Given the description of an element on the screen output the (x, y) to click on. 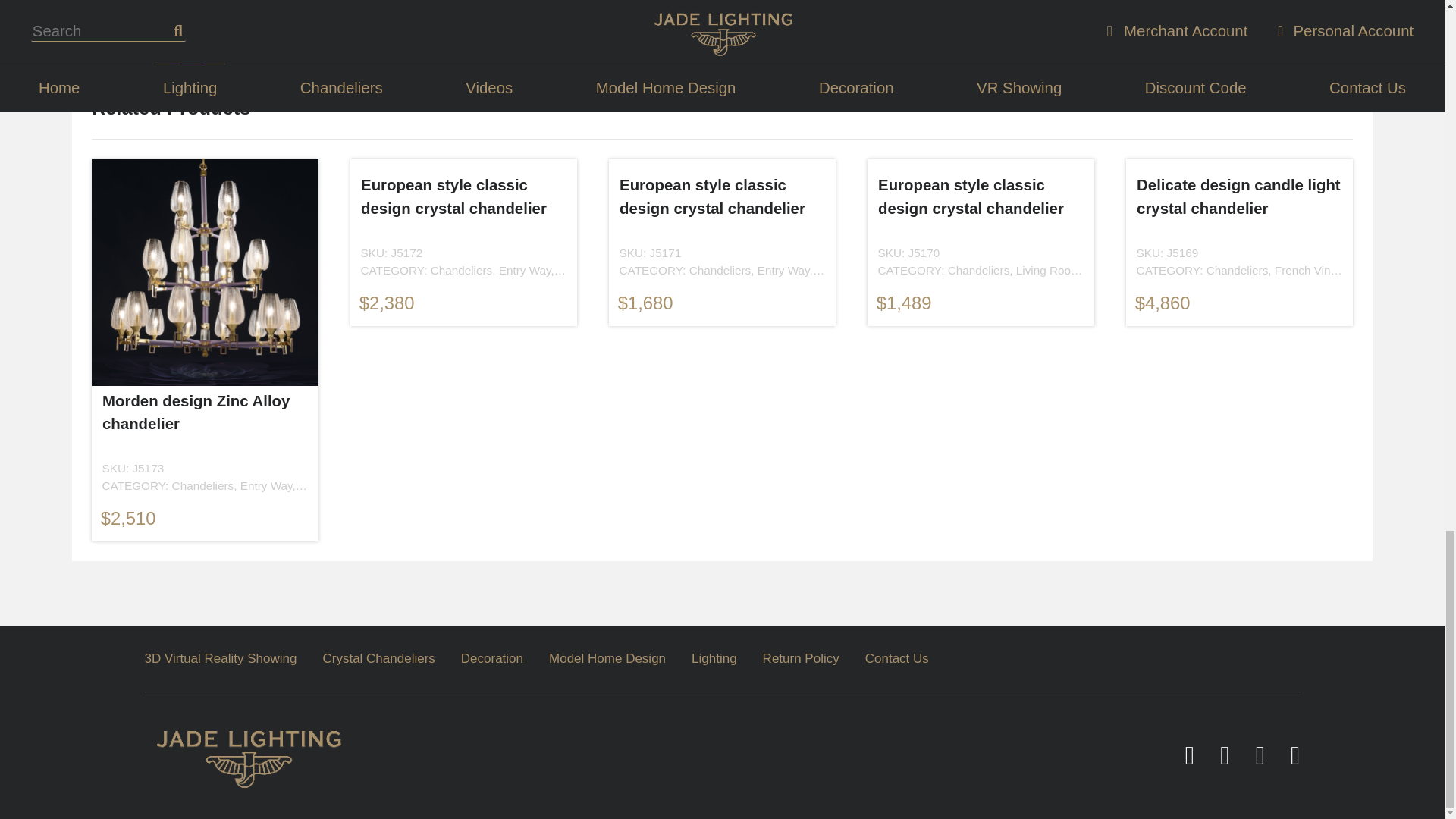
3D Virtual Reality Showing (226, 658)
Crystal Chandeliers (377, 658)
Model Home Design (606, 658)
Decoration (491, 658)
Lighting (713, 658)
